Given the description of an element on the screen output the (x, y) to click on. 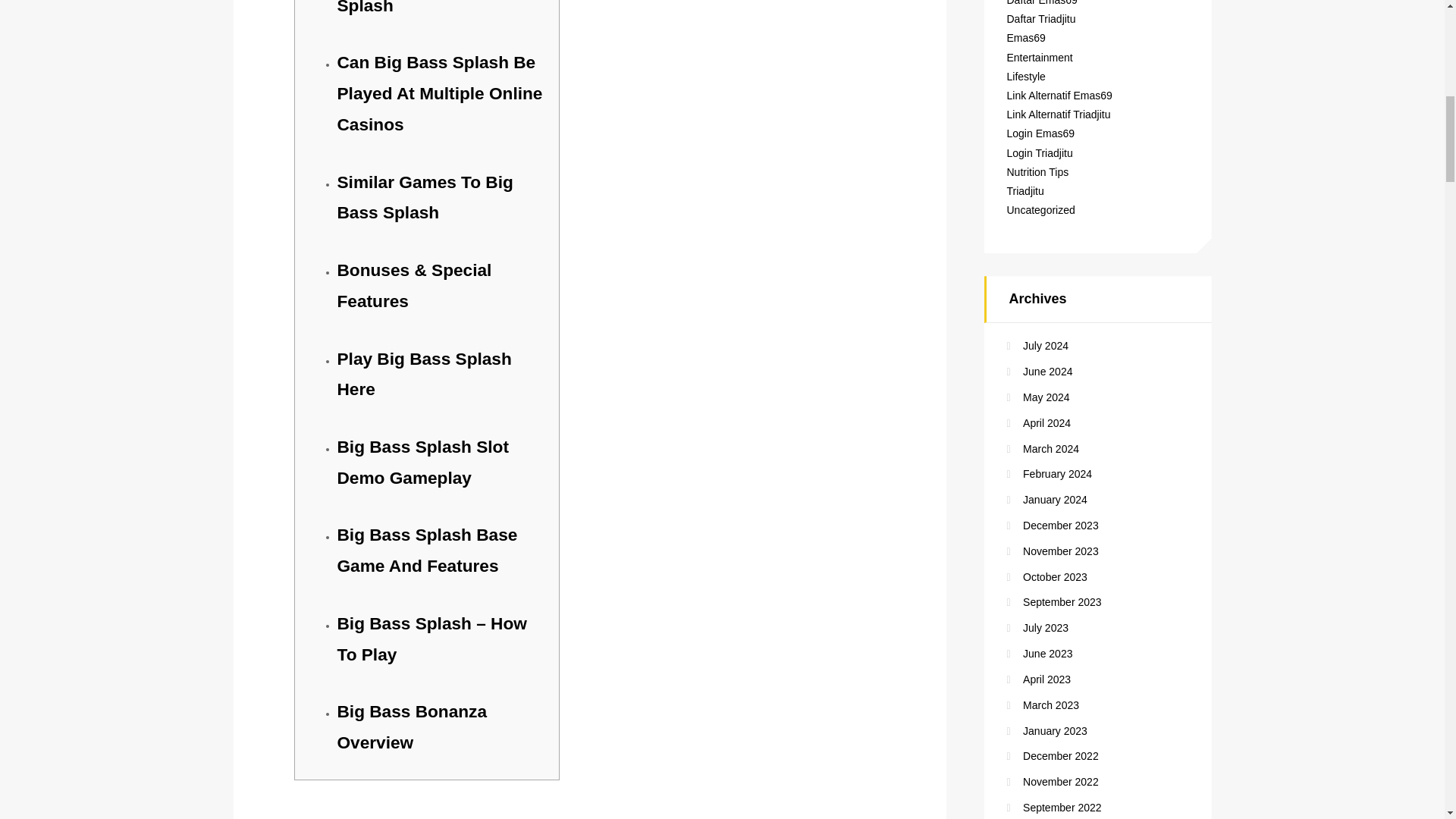
Similar Games To Big Bass Splash (424, 196)
Big Bass Bonanza Overview (411, 726)
Play Big Bass Splash Here (423, 373)
Big Bass Splash Base Game And Features (426, 549)
Can Big Bass Splash Be Played At Multiple Online Casinos (438, 93)
Best Online Casinos In France To Play Big Bass Splash (435, 7)
Big Bass Splash Slot Demo Gameplay (422, 461)
